Given the description of an element on the screen output the (x, y) to click on. 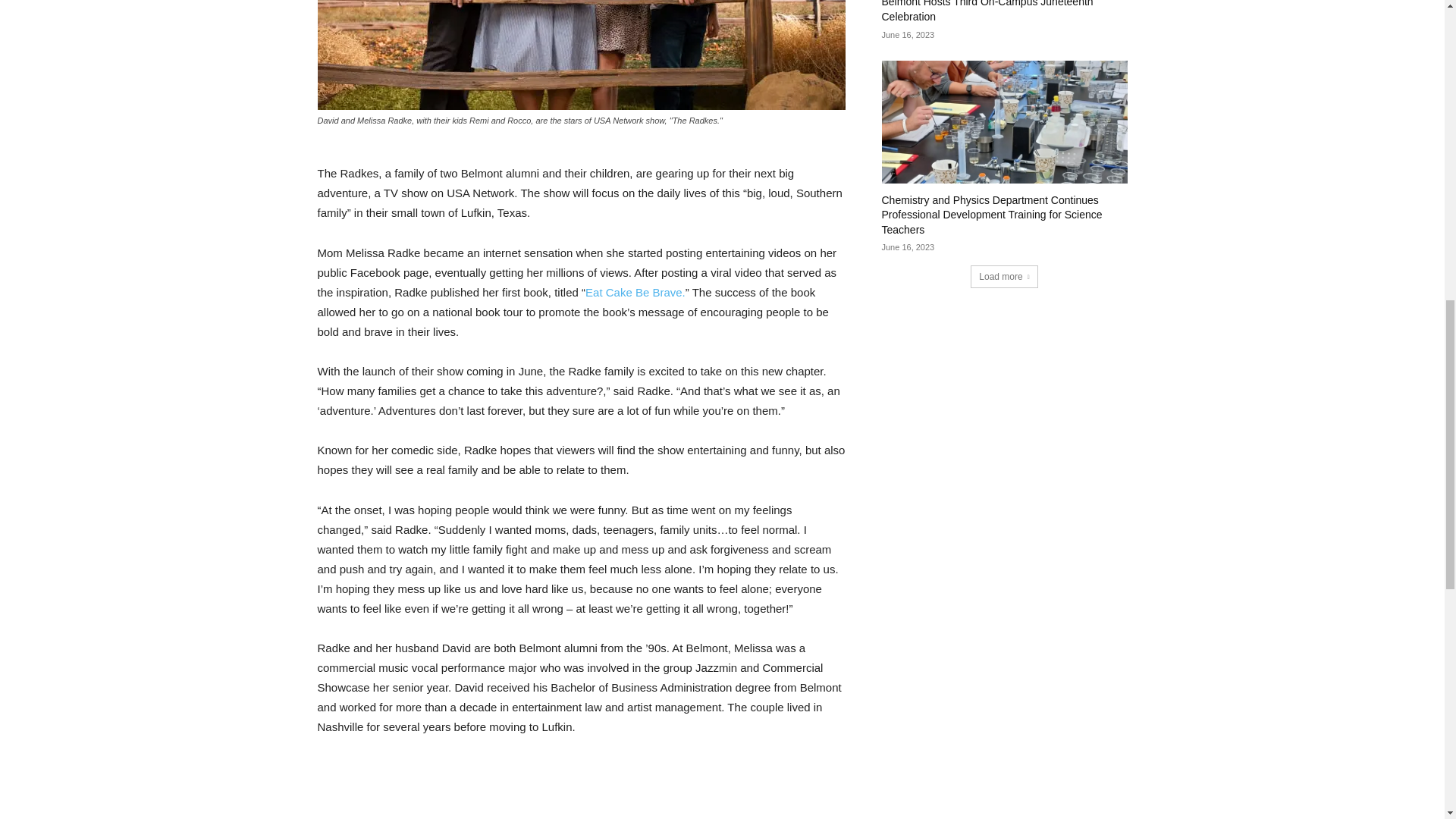
The Radkes (580, 54)
